Given the description of an element on the screen output the (x, y) to click on. 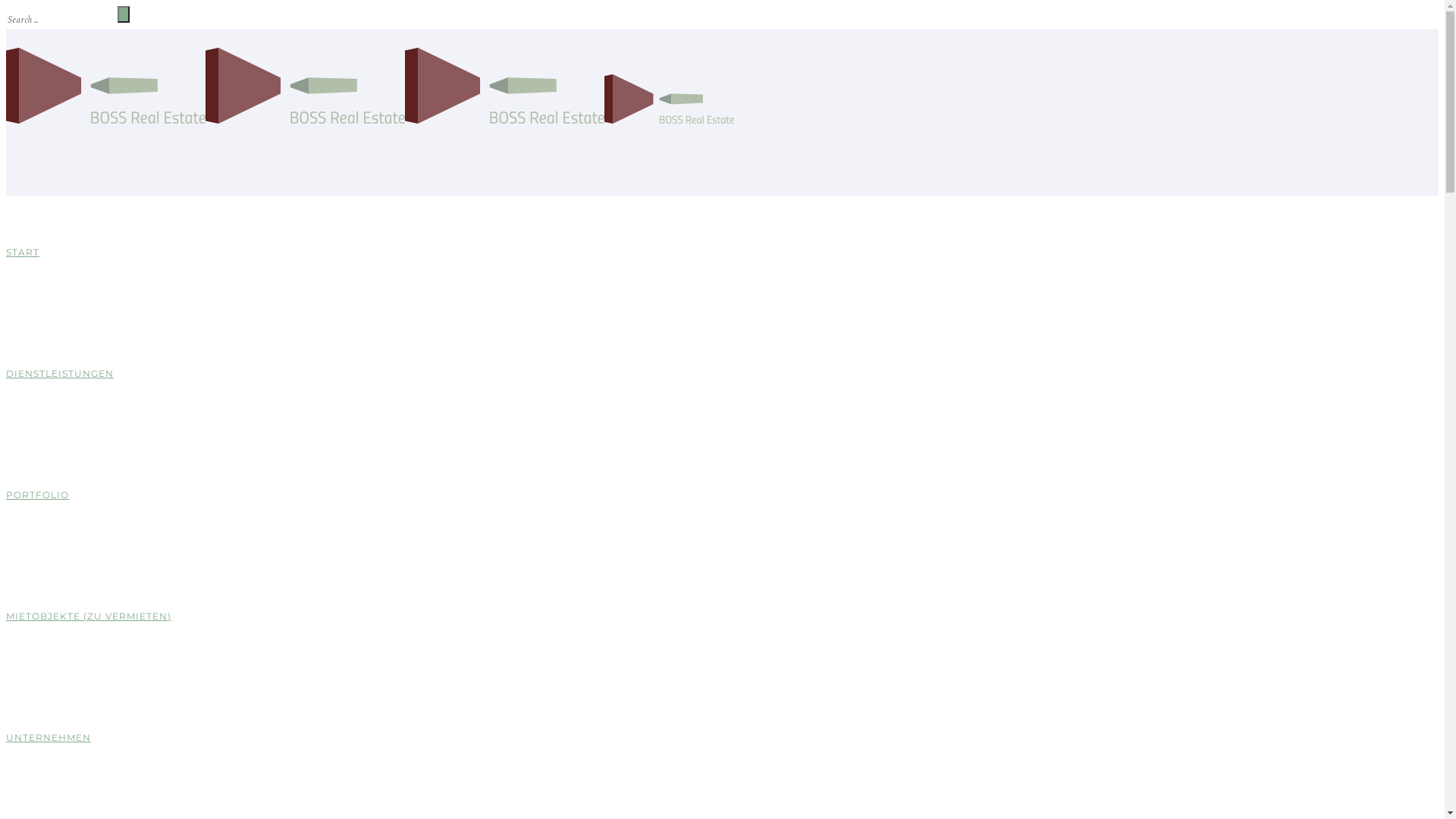
DIENSTLEISTUNGEN Element type: text (59, 373)
PORTFOLIO Element type: text (37, 494)
START Element type: text (22, 251)
MIETOBJEKTE (ZU VERMIETEN) Element type: text (88, 615)
UNTERNEHMEN Element type: text (48, 737)
